Given the description of an element on the screen output the (x, y) to click on. 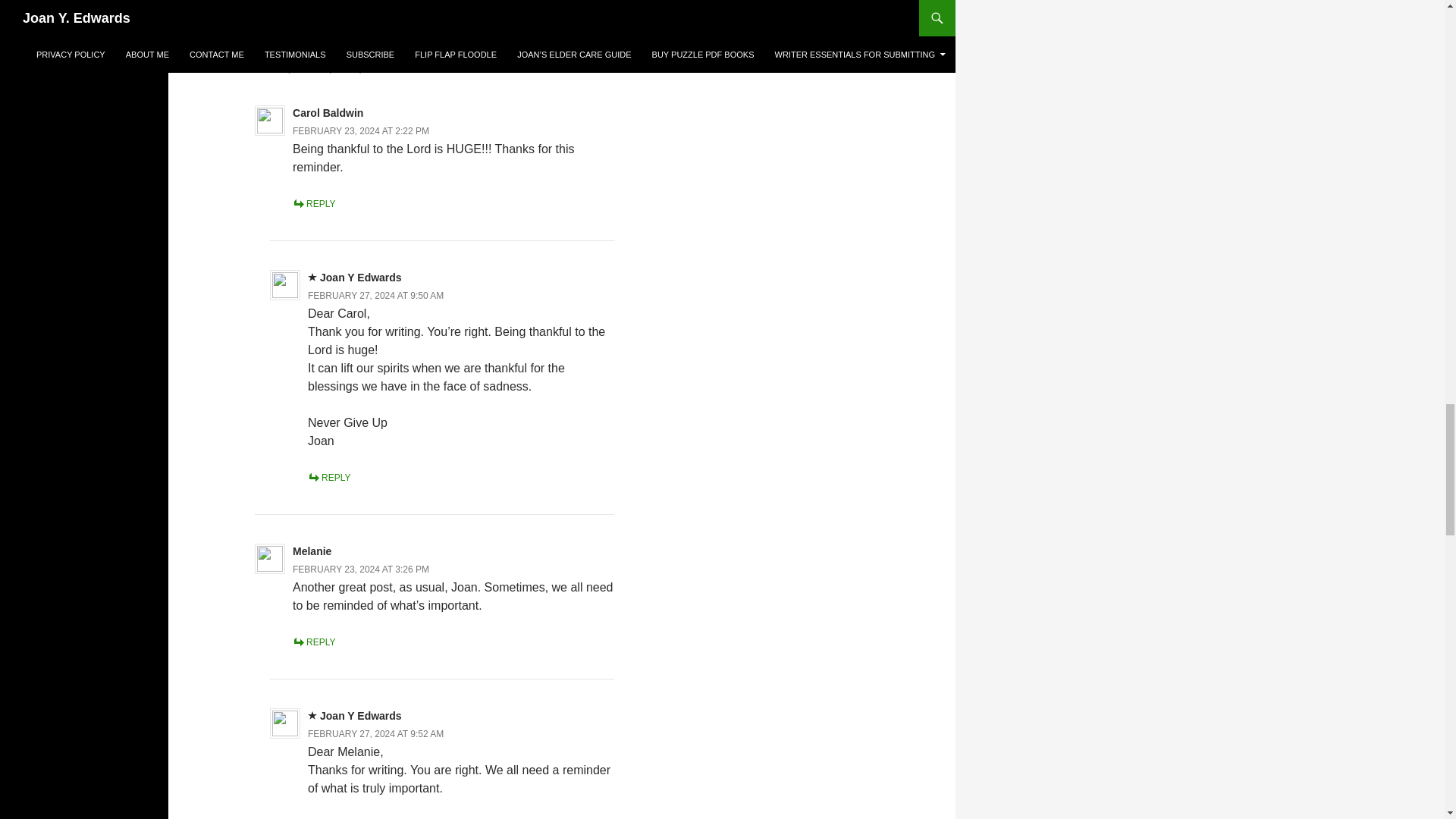
FEBRUARY 23, 2024 AT 2:22 PM (360, 131)
Carol Baldwin (434, 2)
